Given the description of an element on the screen output the (x, y) to click on. 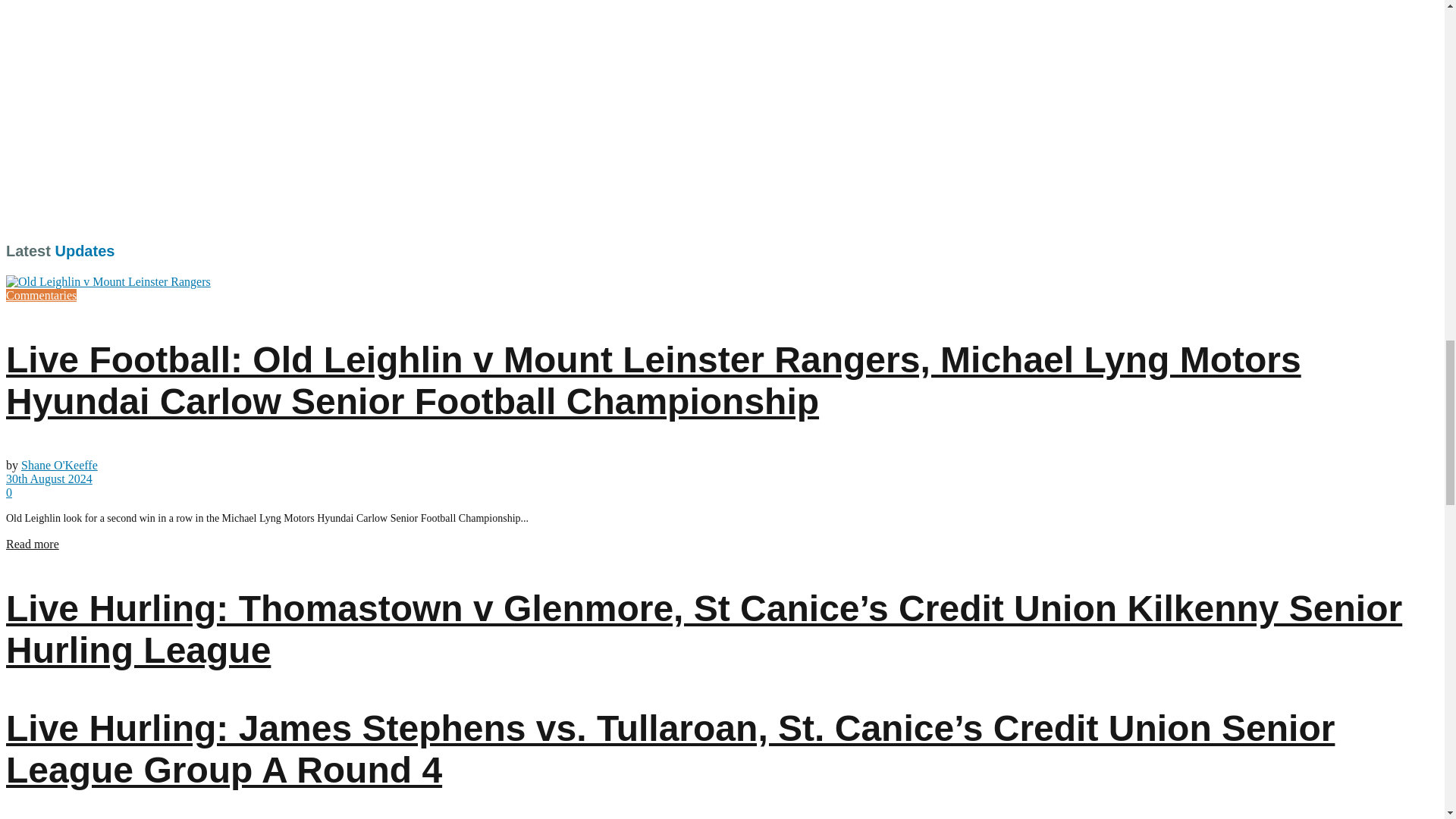
Commentaries (41, 295)
Shane O'Keeffe (59, 464)
Read more (32, 543)
30th August 2024 (49, 478)
